Given the description of an element on the screen output the (x, y) to click on. 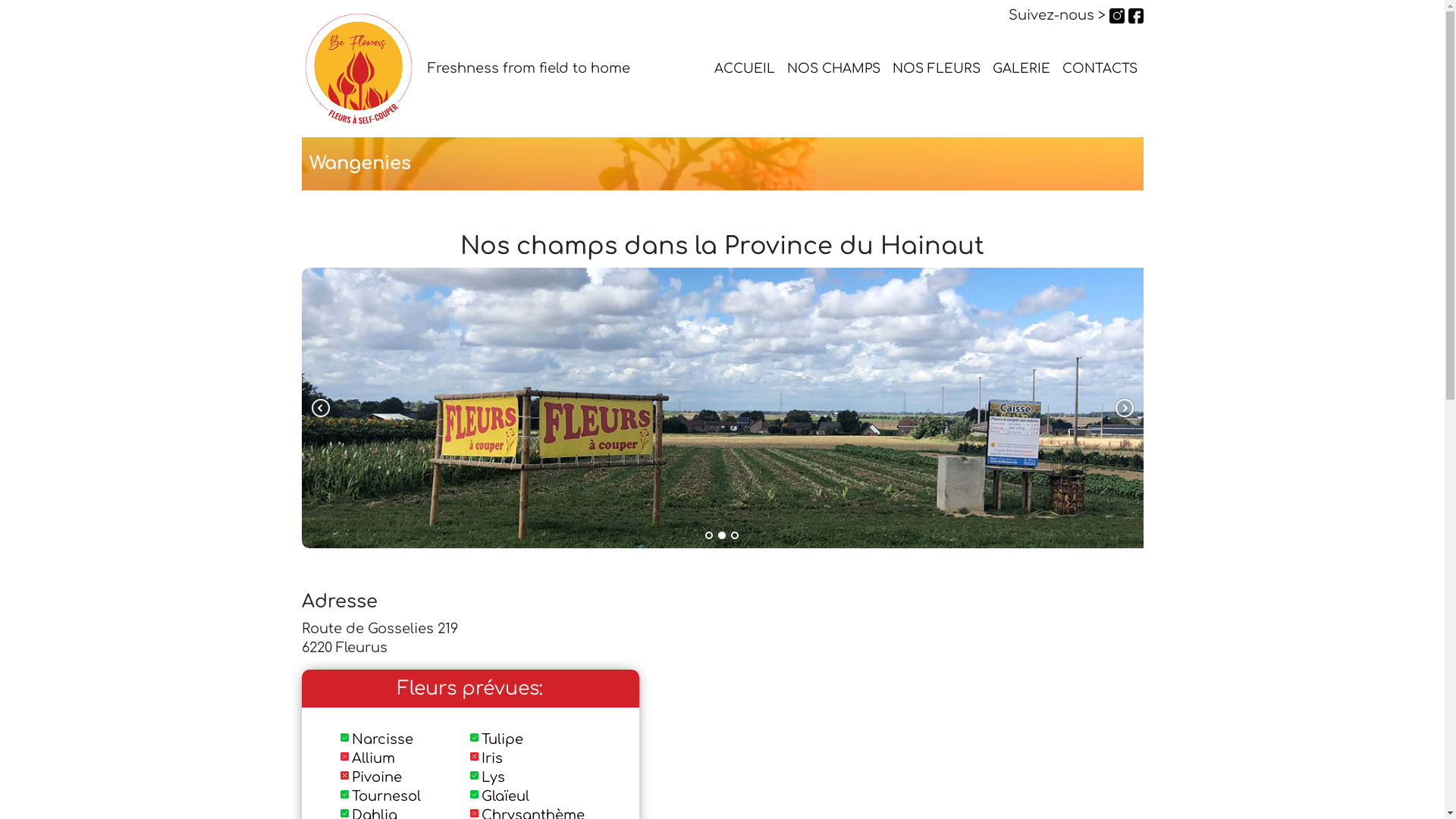
NOS FLEURS Element type: text (935, 68)
GALERIE Element type: text (1020, 68)
Narcisse Element type: text (382, 738)
ACCUEIL Element type: text (744, 68)
CONTACTS Element type: text (1098, 68)
Pivoine Element type: text (376, 776)
Tournesol Element type: text (385, 795)
Tulipe Element type: text (502, 738)
Iris Element type: text (491, 757)
Lys Element type: text (493, 776)
Allium Element type: text (373, 757)
NOS CHAMPS Element type: text (833, 68)
